Given the description of an element on the screen output the (x, y) to click on. 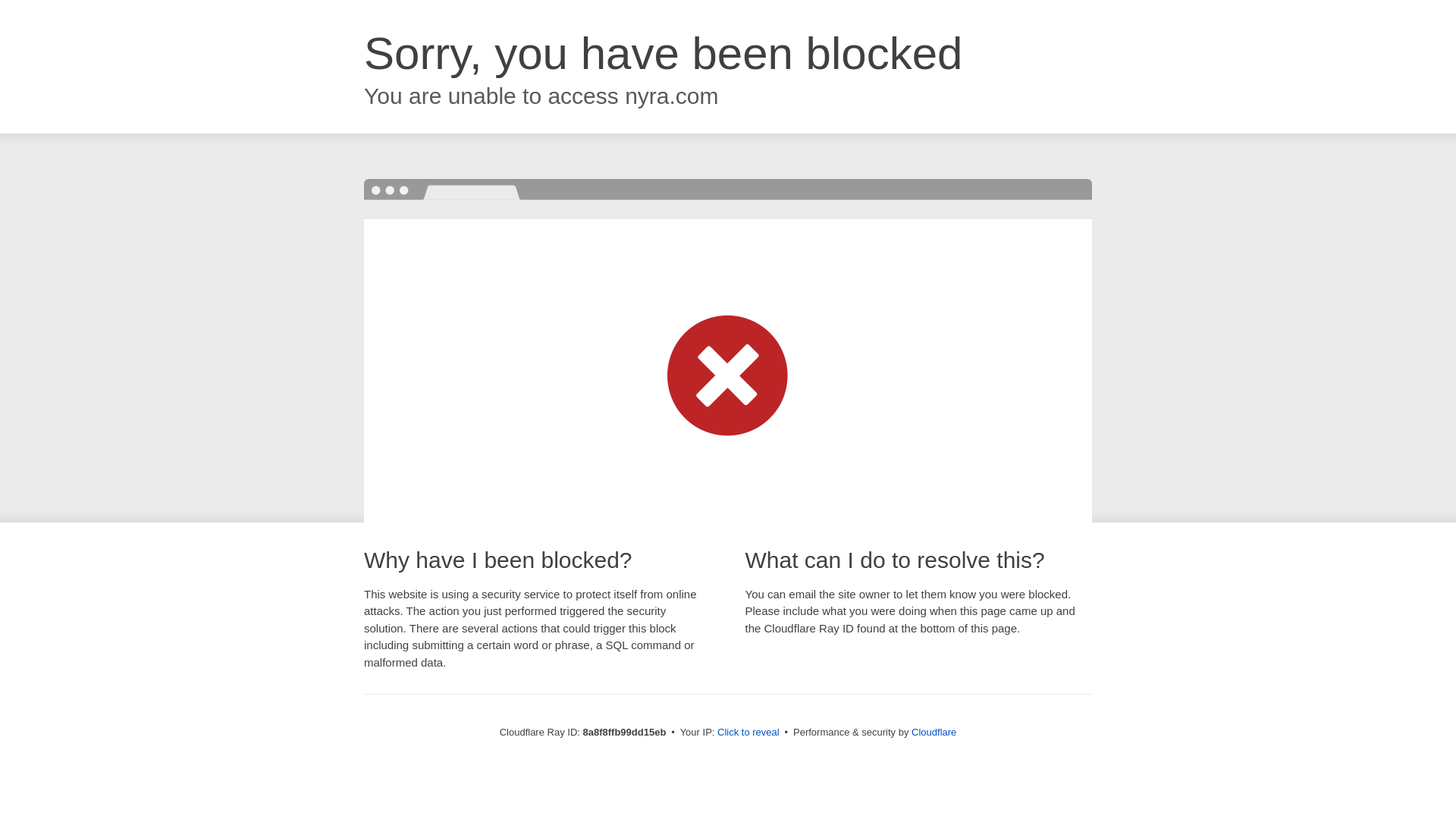
Cloudflare (933, 731)
Click to reveal (747, 732)
